Given the description of an element on the screen output the (x, y) to click on. 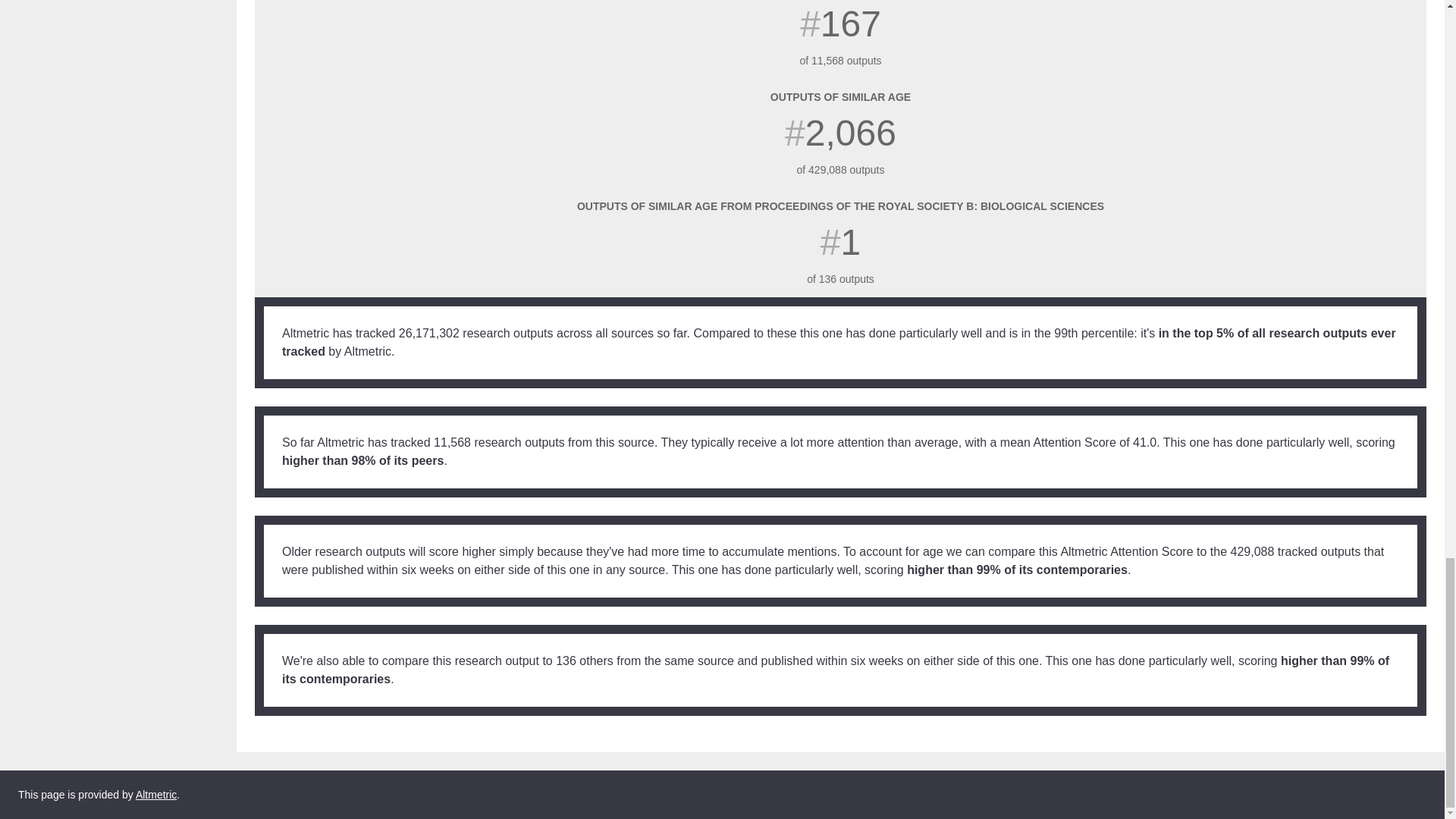
Altmetric (155, 794)
Altmetric (1382, 794)
